Given the description of an element on the screen output the (x, y) to click on. 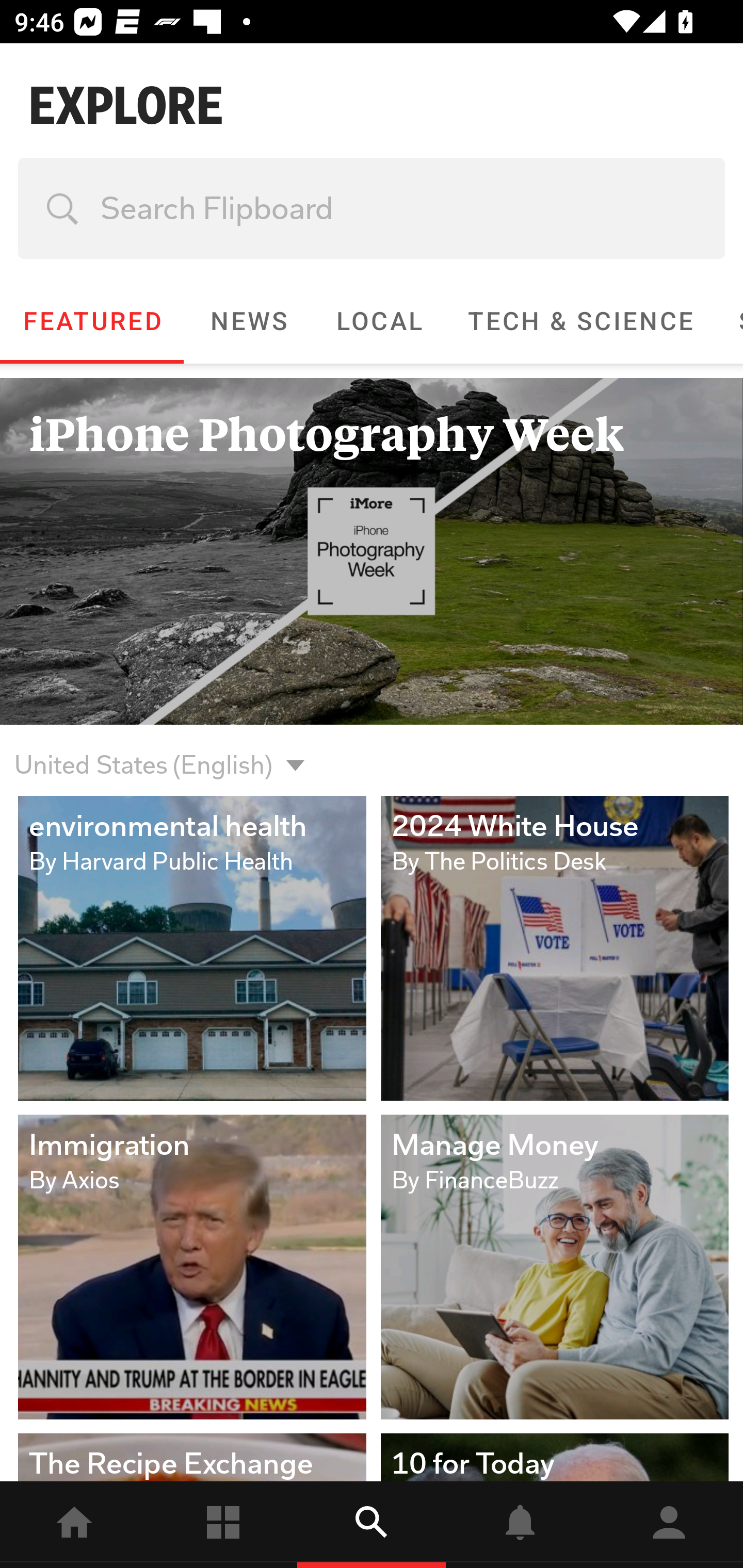
Search Flipboard (371, 208)
News NEWS (248, 320)
Local LOCAL (379, 320)
Tech & Science TECH & SCIENCE (580, 320)
United States (English) (143, 753)
home (74, 1524)
Following (222, 1524)
explore (371, 1524)
Notifications (519, 1524)
Profile (668, 1524)
